Given the description of an element on the screen output the (x, y) to click on. 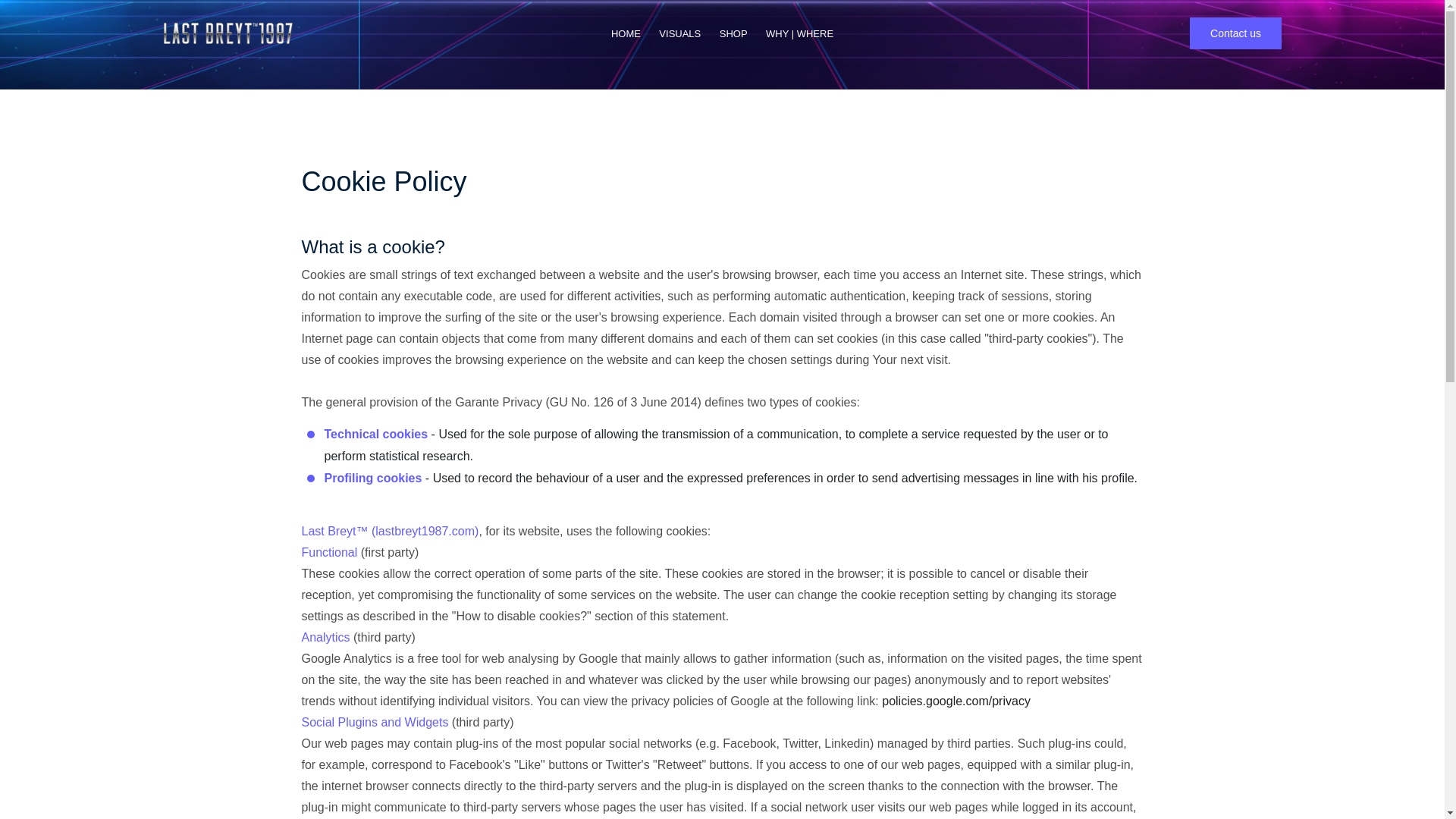
SHOP (733, 33)
Shop Last Breyt 1987 (733, 33)
Contact us (1235, 33)
Synthwave Outrun Retrowave Design (679, 33)
HOME (625, 33)
Why Last Breyt 1987 and Where (798, 33)
VISUALS (679, 33)
Homepage (625, 33)
